Given the description of an element on the screen output the (x, y) to click on. 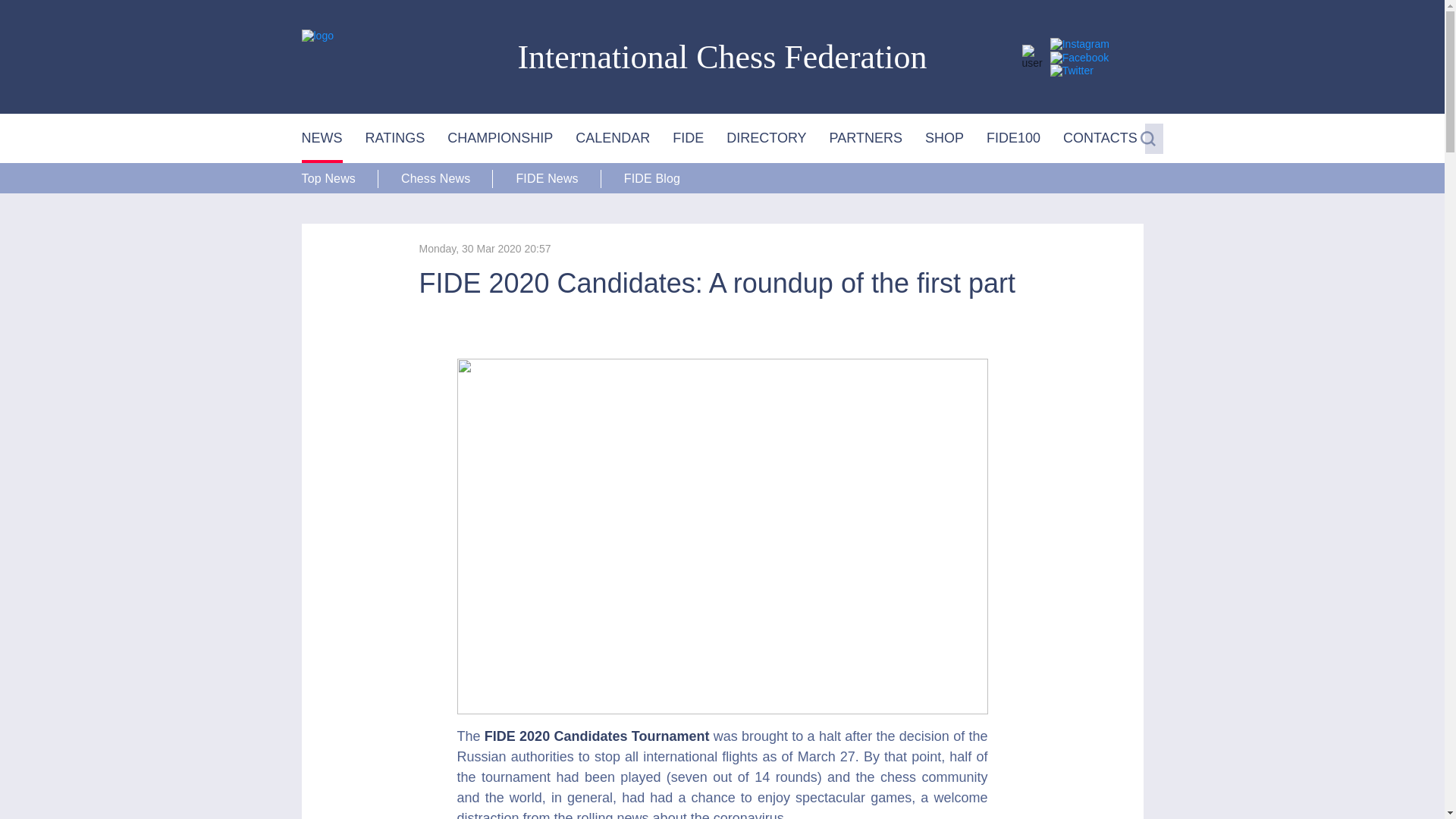
DIRECTORY (766, 138)
PARTNERS (865, 138)
NEWS (321, 138)
CALENDAR (612, 138)
Instagram (1079, 43)
CONTACTS (1099, 138)
FIDE (687, 138)
SHOP (943, 138)
CHAMPIONSHIP (499, 138)
Twitter (1071, 70)
Chess News (435, 178)
FIDE 2020 Candidates Tournament (597, 735)
Facebook (1078, 57)
FIDE100 (1014, 138)
Top News (339, 178)
